Given the description of an element on the screen output the (x, y) to click on. 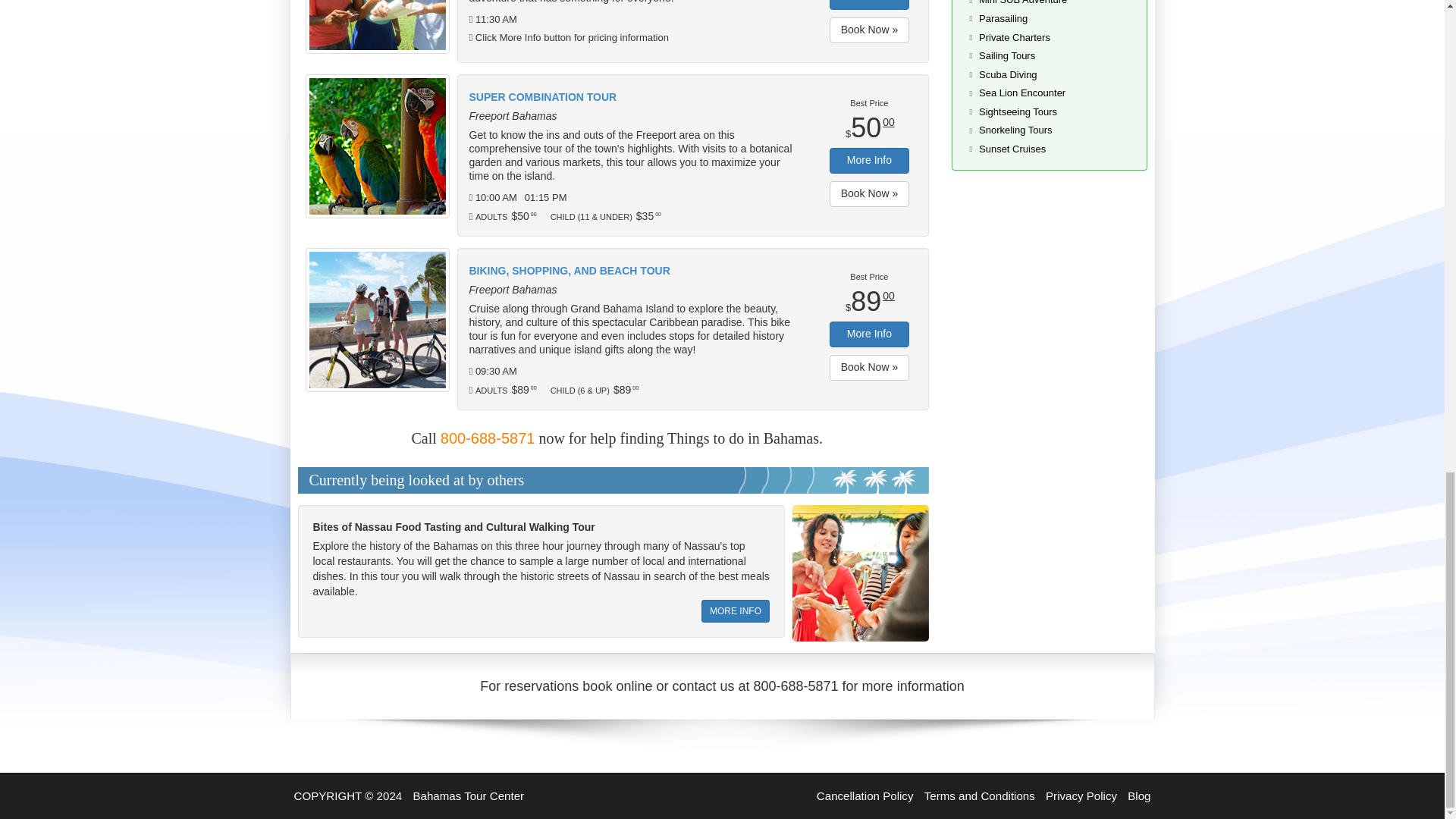
MORE INFO (735, 610)
More Info (868, 4)
More Info (868, 160)
More Info (868, 334)
SUPER COMBINATION TOUR (632, 97)
BIKING, SHOPPING, AND BEACH TOUR (632, 271)
Terms and Conditions (981, 795)
Cancellation Policy (866, 795)
Privacy Policy (1082, 795)
Blog (1138, 795)
